Given the description of an element on the screen output the (x, y) to click on. 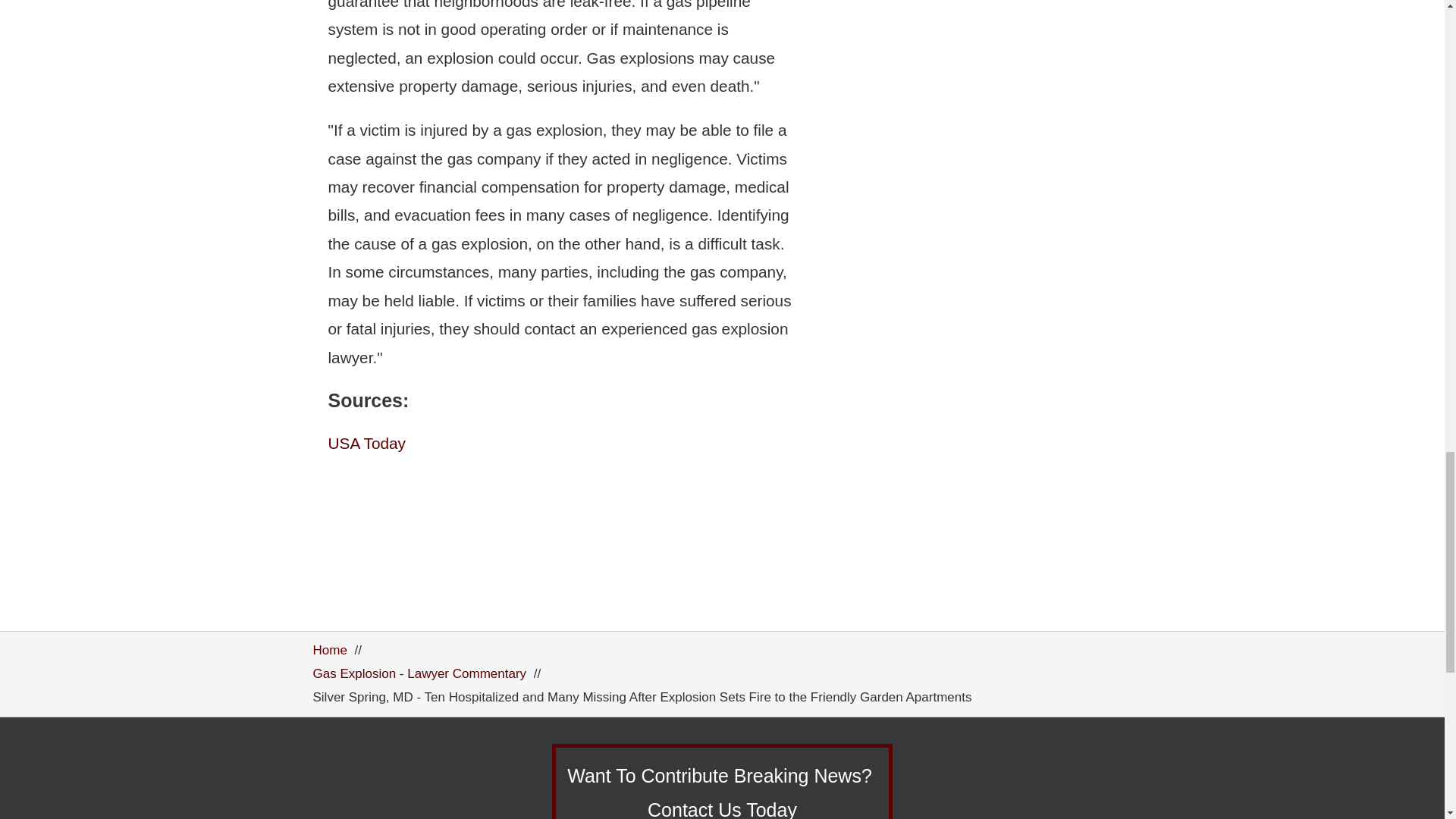
Gas Explosion - Lawyer Commentary (419, 673)
USA Today (366, 443)
Home (329, 649)
